Given the description of an element on the screen output the (x, y) to click on. 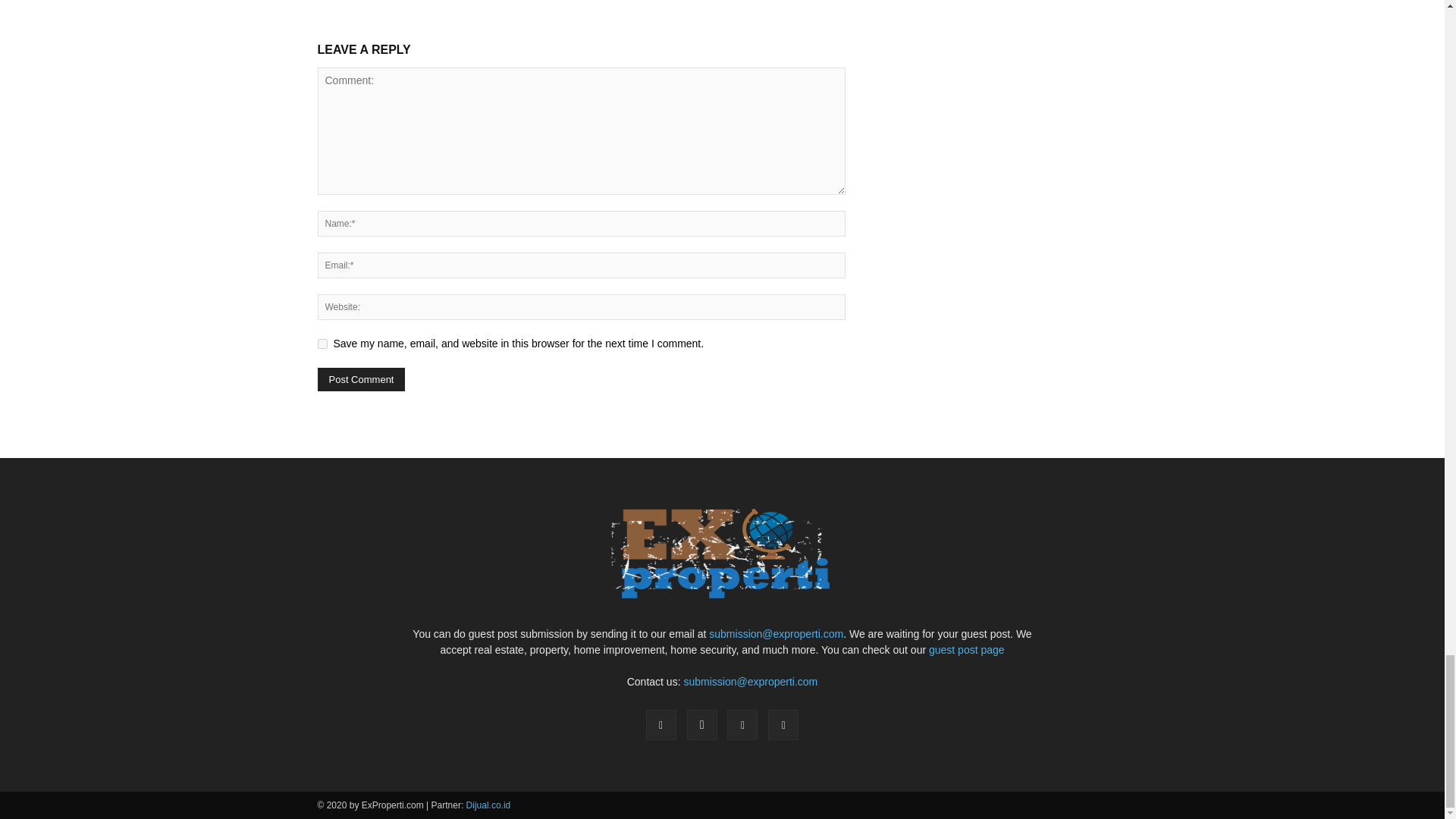
yes (321, 343)
Post Comment (360, 379)
